Given the description of an element on the screen output the (x, y) to click on. 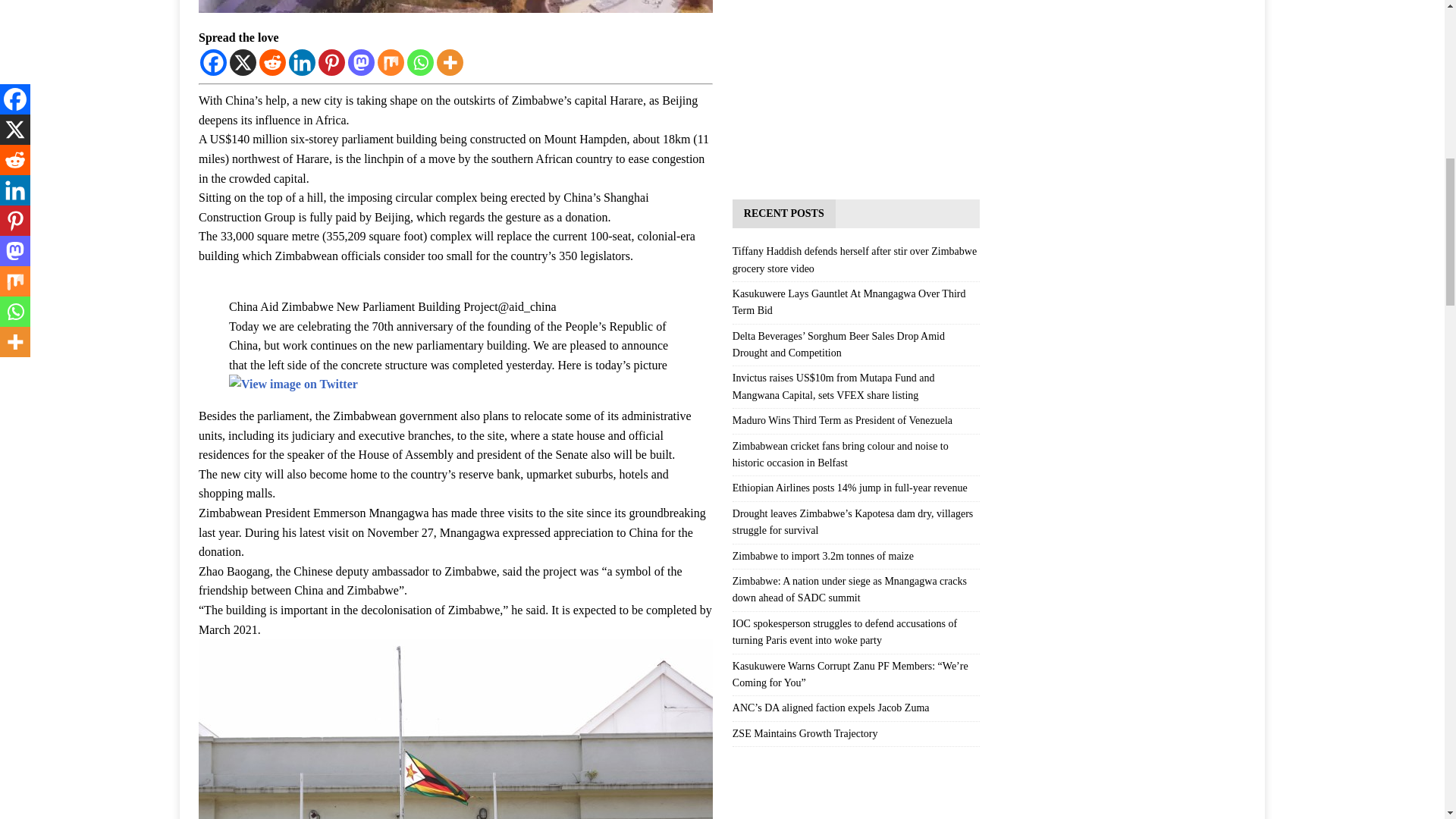
Whatsapp (420, 62)
Mastodon (360, 62)
Reddit (272, 62)
Pinterest (331, 62)
X (243, 62)
Mix (390, 62)
New Zimbabwe Parliament (455, 6)
Facebook (213, 62)
Linkedin (301, 62)
